Given the description of an element on the screen output the (x, y) to click on. 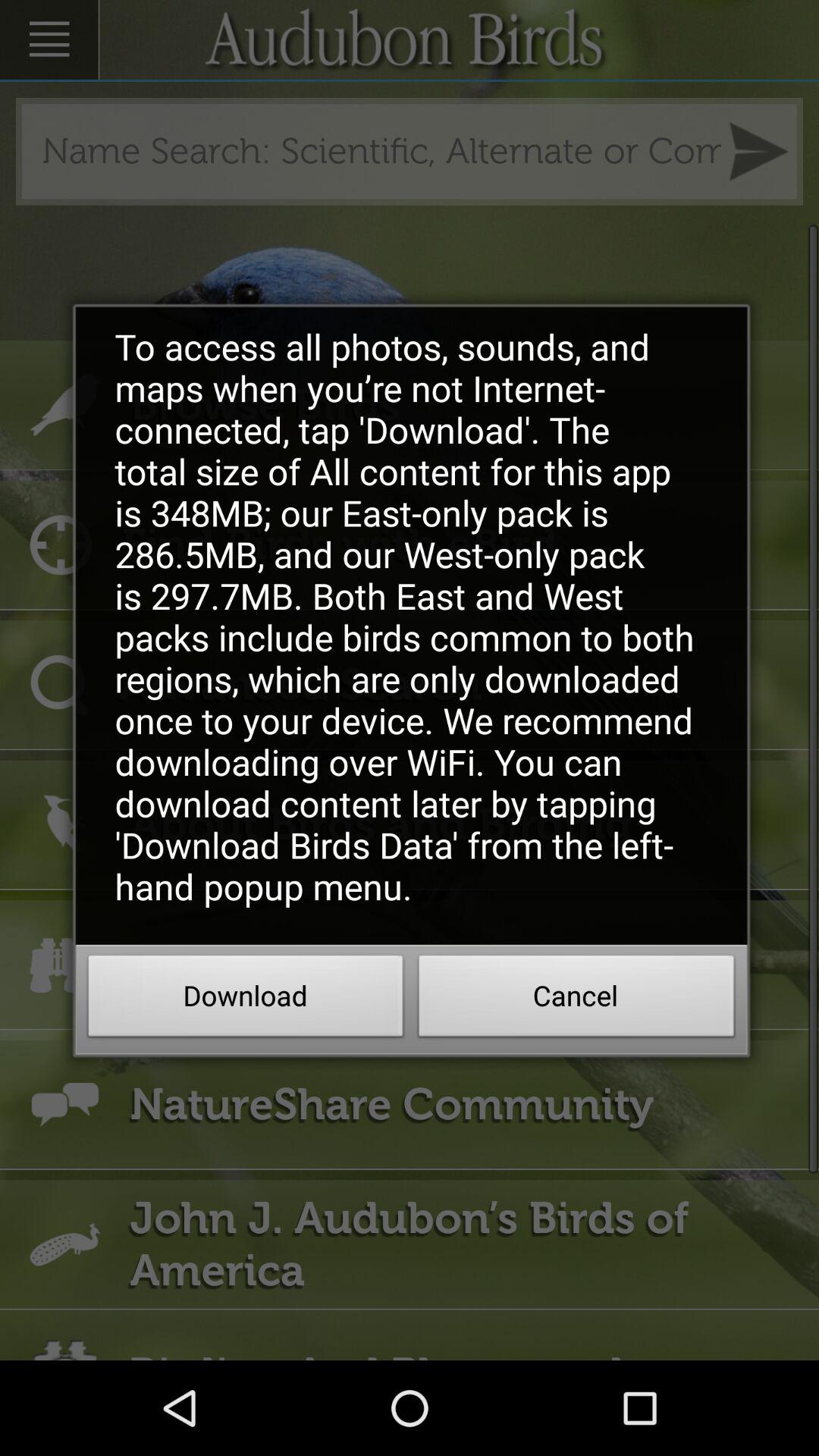
turn on the cancel icon (576, 1000)
